Given the description of an element on the screen output the (x, y) to click on. 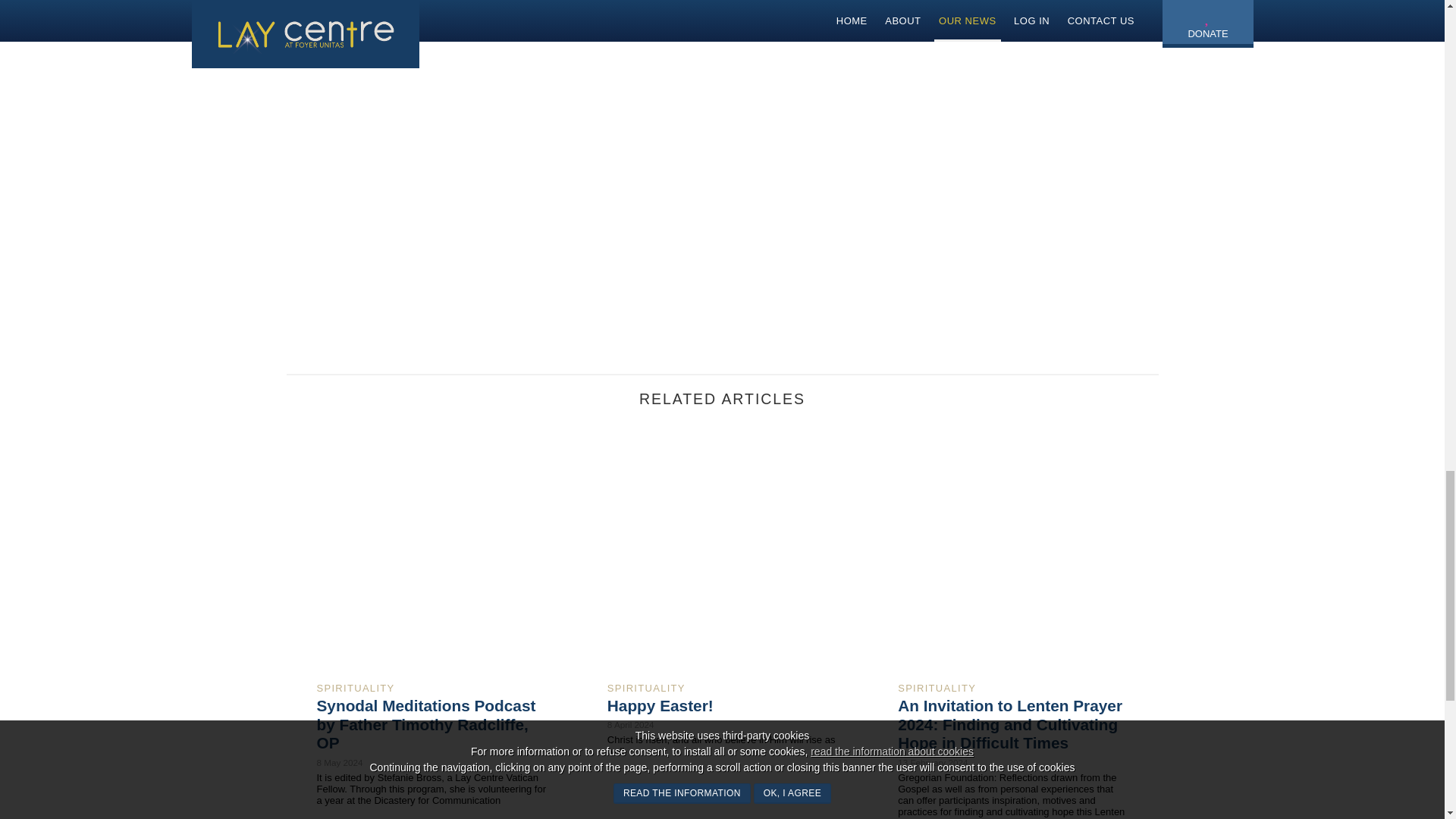
SPIRITUALITY (355, 687)
SPIRITUALITY (646, 687)
Synodal Meditations Podcast by Father Timothy Radcliffe, OP (426, 724)
SPIRITUALITY (936, 687)
Happy Easter! (660, 705)
